Given the description of an element on the screen output the (x, y) to click on. 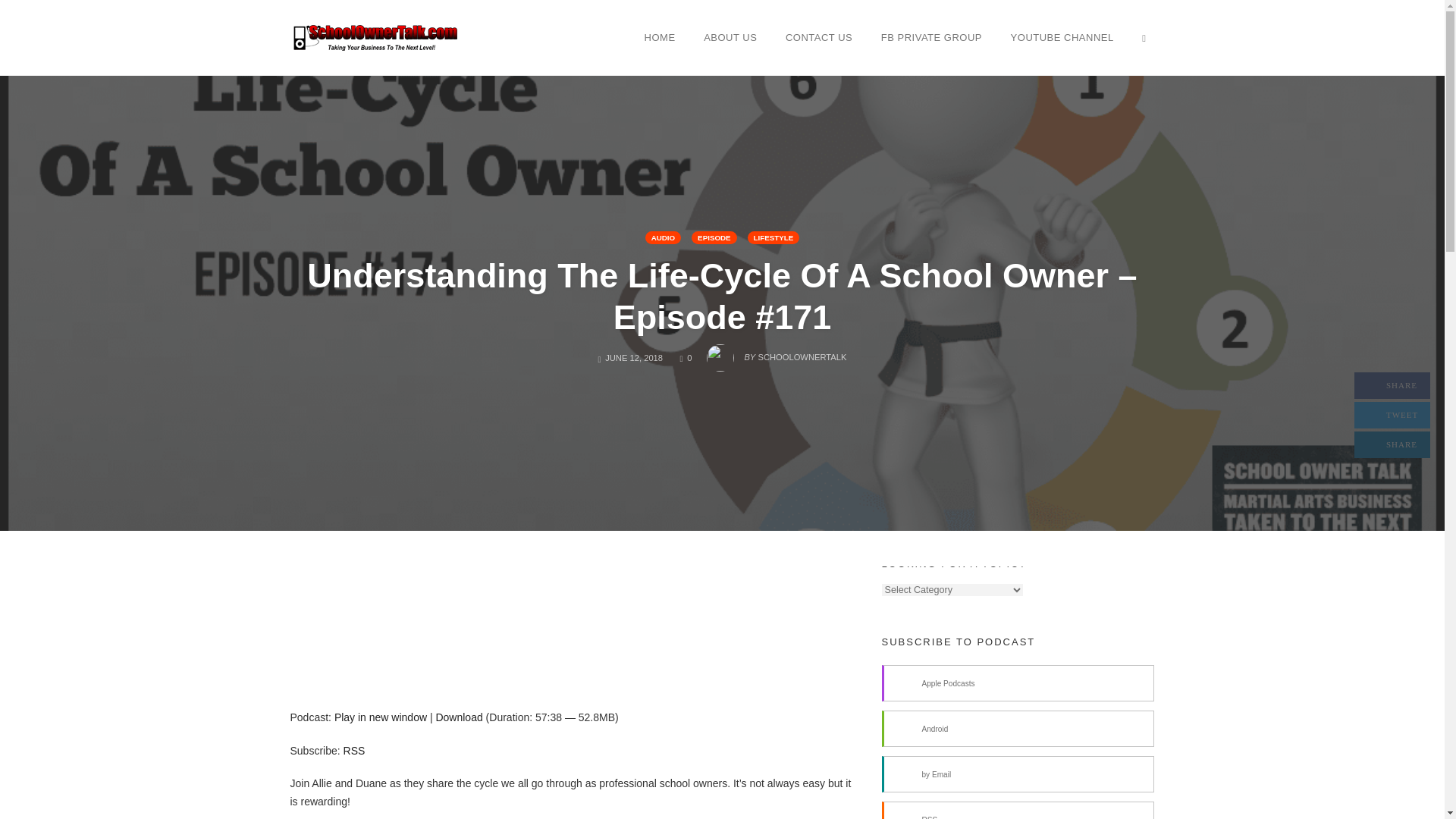
FB PRIVATE GROUP (931, 37)
LIFESTYLE (685, 357)
Download (773, 237)
HOME (458, 717)
School Owner Talk (660, 37)
Download (373, 36)
YOUTUBE CHANNEL (458, 717)
RSS (1062, 37)
Subscribe on Android (354, 750)
